Given the description of an element on the screen output the (x, y) to click on. 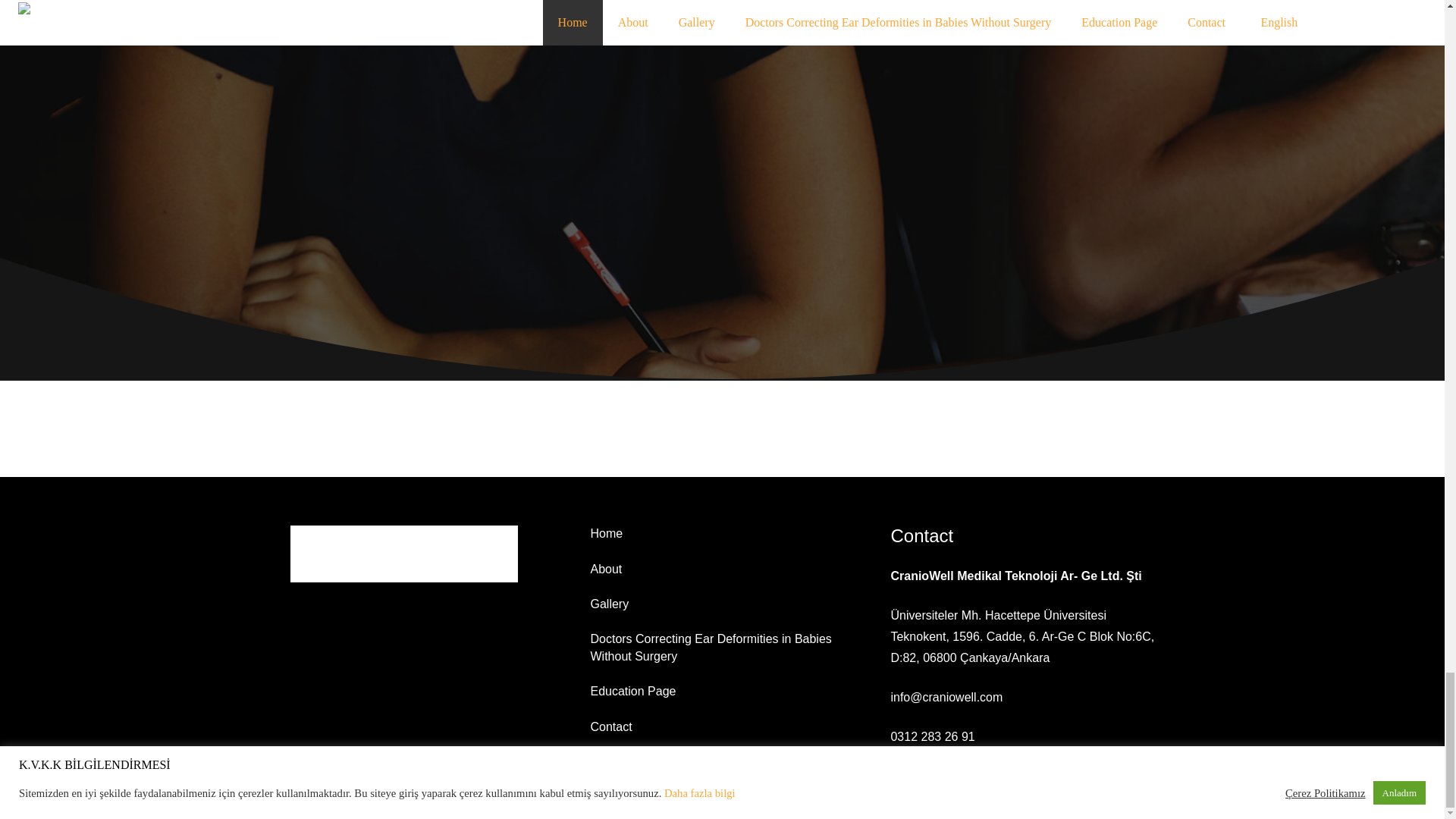
Doctors Correcting Ear Deformities in Babies Without Surgery (710, 646)
Contact (610, 726)
About (605, 568)
Education Page (632, 690)
English (611, 761)
English (611, 761)
Home (606, 533)
Gallery (608, 603)
